Given the description of an element on the screen output the (x, y) to click on. 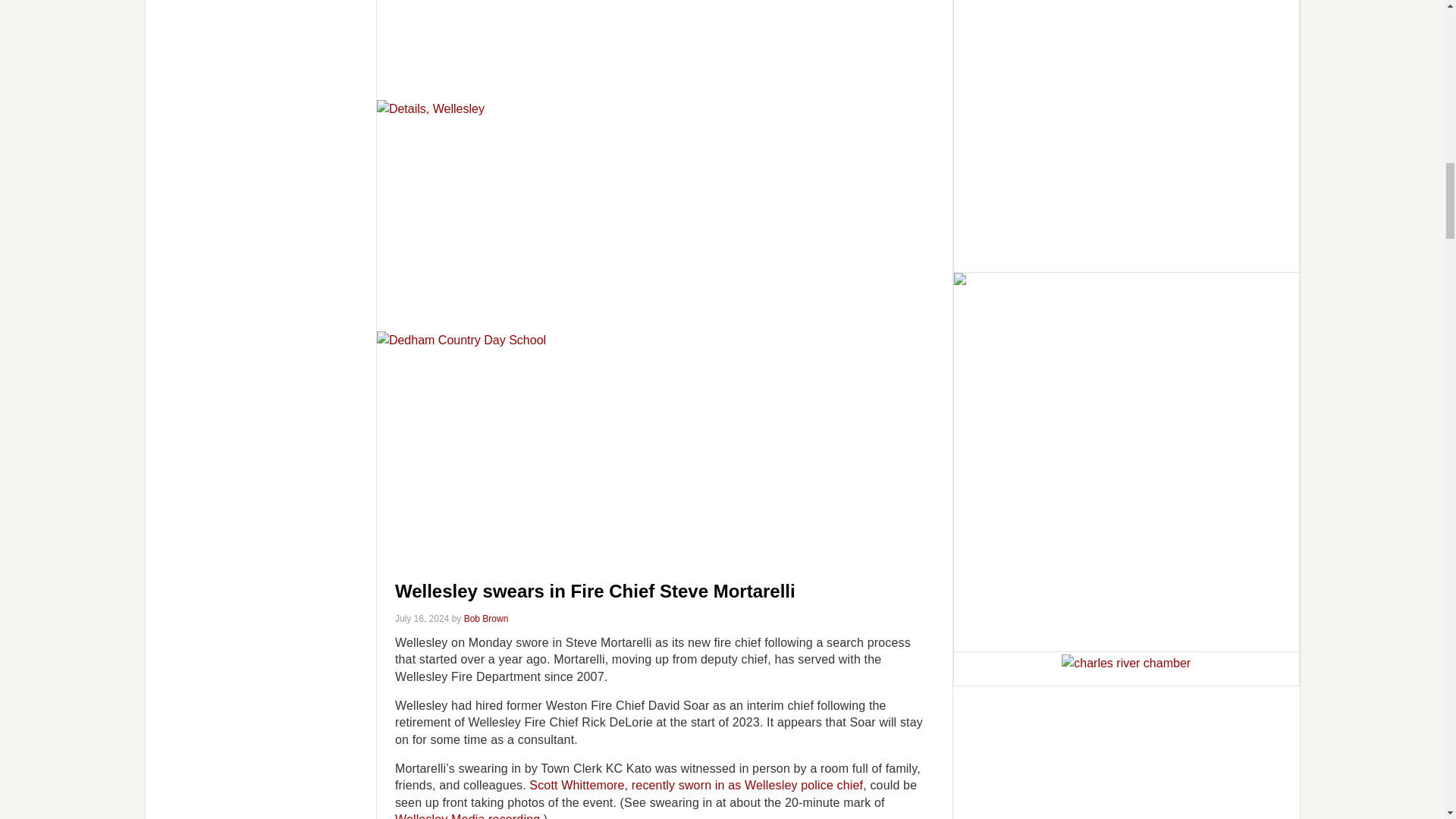
Wellesley swears in Fire Chief Steve Mortarelli (594, 590)
Bob Brown (486, 618)
